Given the description of an element on the screen output the (x, y) to click on. 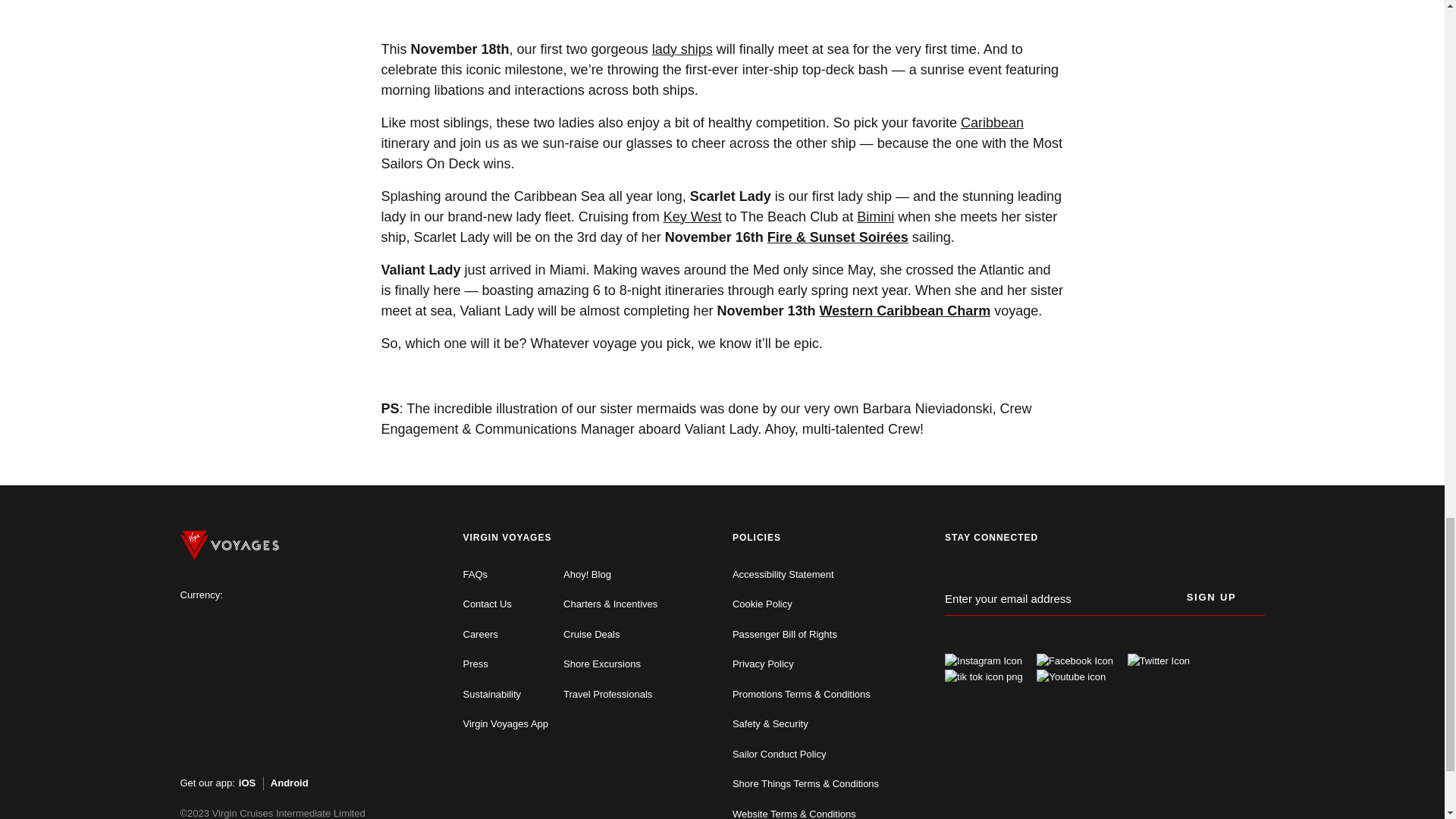
Western Caribbean Charm (904, 310)
Key West (692, 216)
Caribbean (991, 122)
Bimini (875, 216)
lady ships (682, 48)
